Given the description of an element on the screen output the (x, y) to click on. 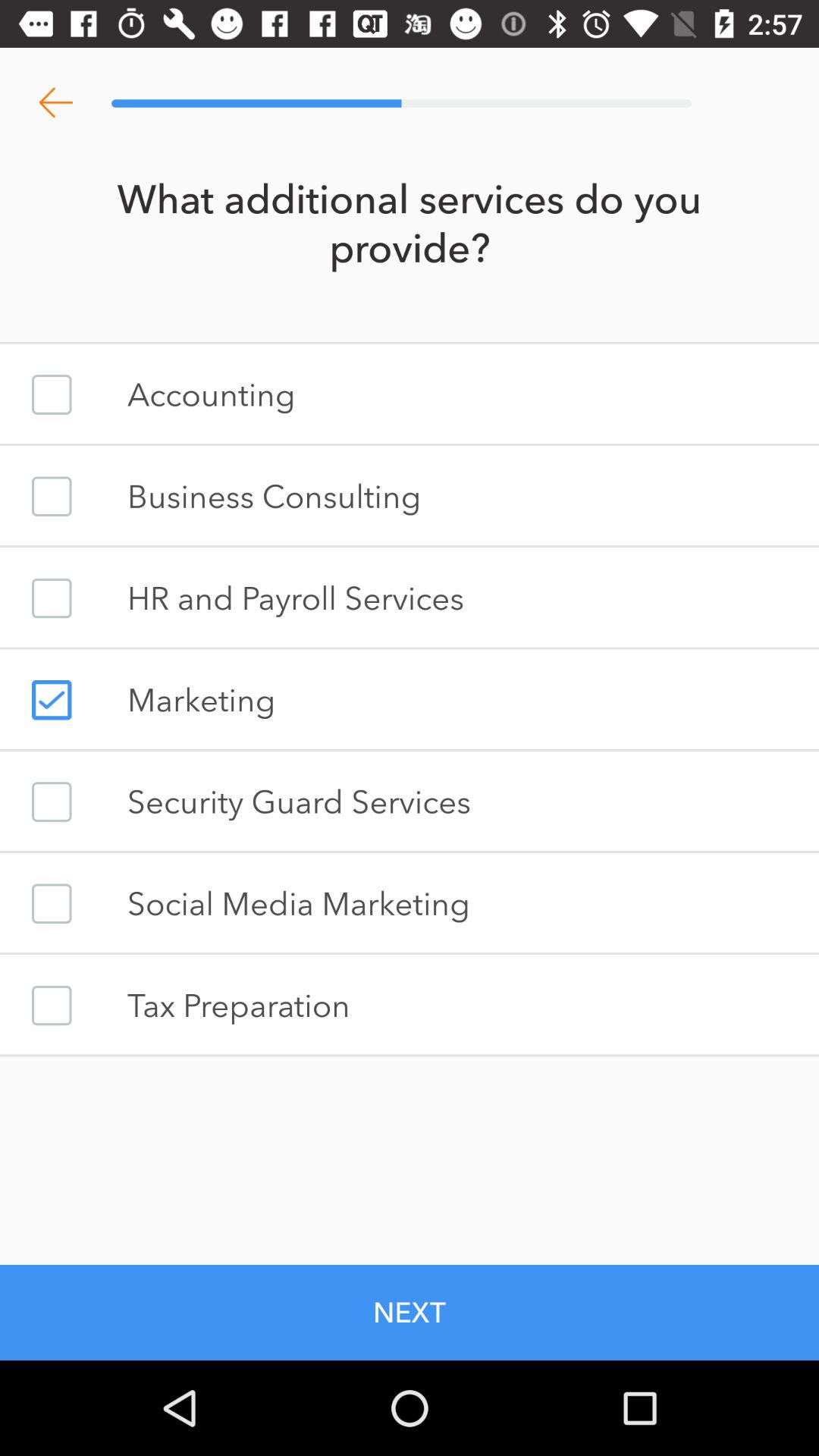
add selection (51, 700)
